Given the description of an element on the screen output the (x, y) to click on. 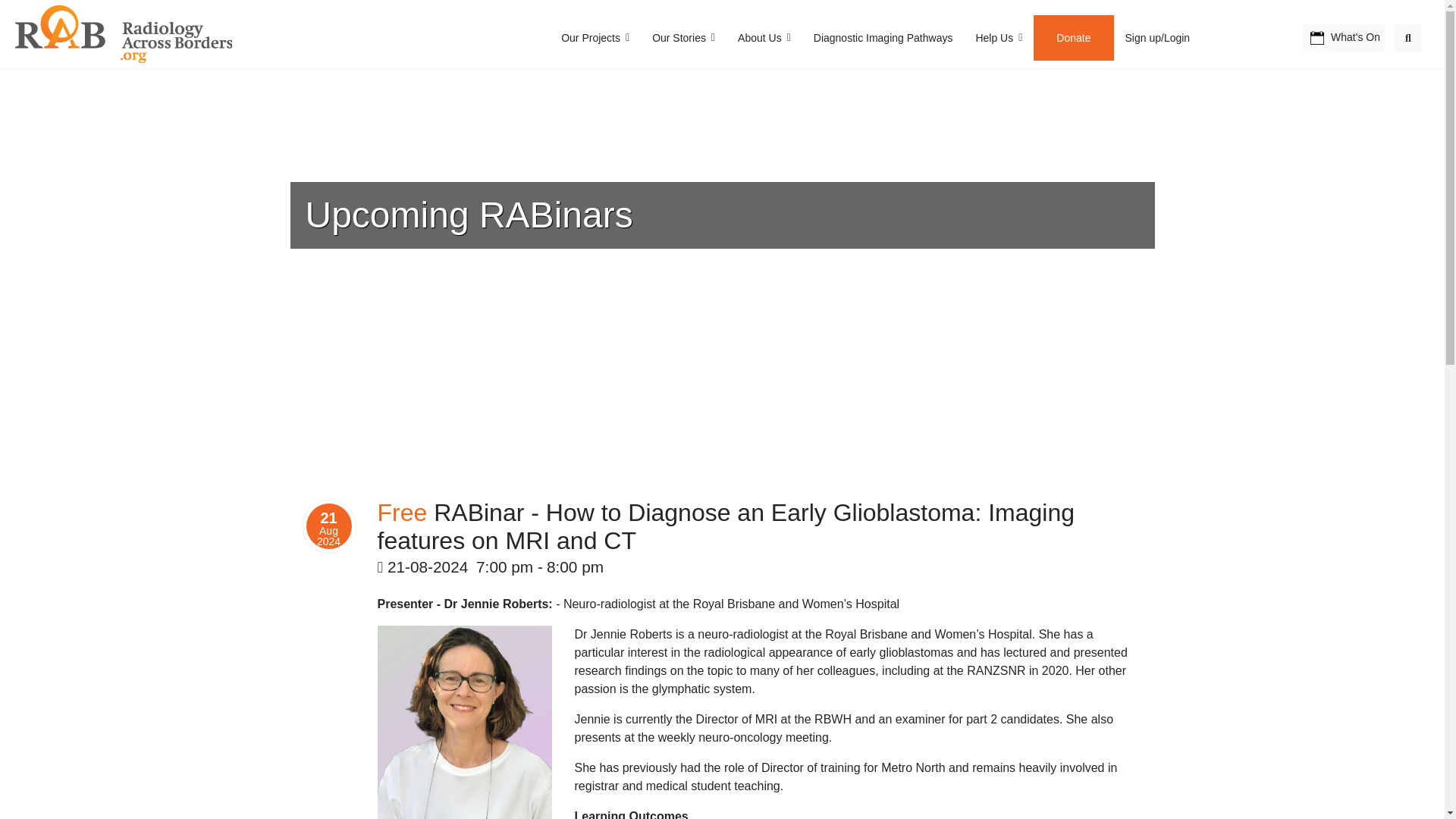
Our Stories (683, 37)
Our Projects (595, 37)
